Given the description of an element on the screen output the (x, y) to click on. 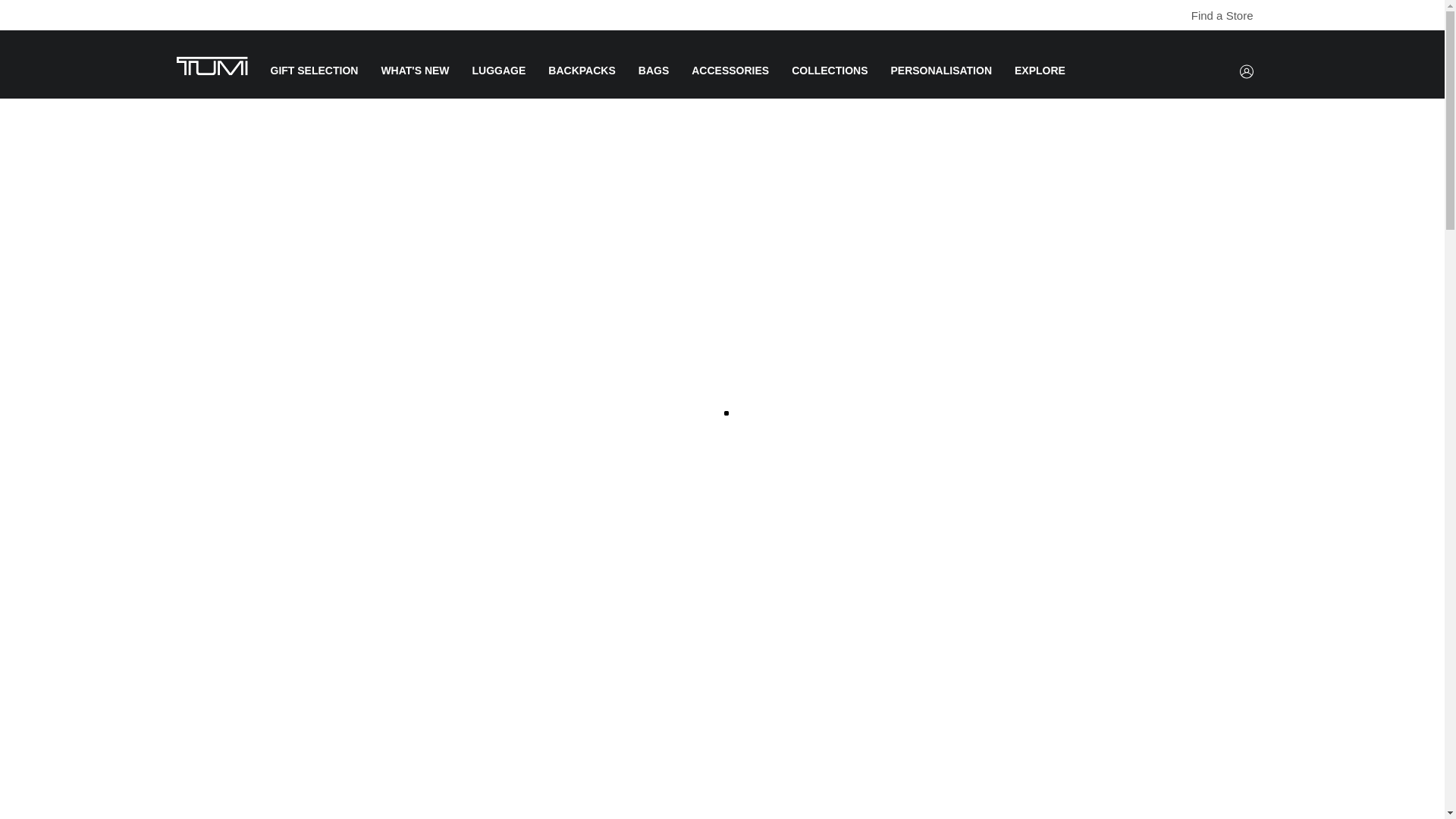
Find a Store (1213, 15)
WHAT'S NEW (414, 81)
BACKPACKS (581, 81)
GIFT SELECTION (313, 81)
LUGGAGE (498, 81)
Find a Store (1181, 15)
